Given the description of an element on the screen output the (x, y) to click on. 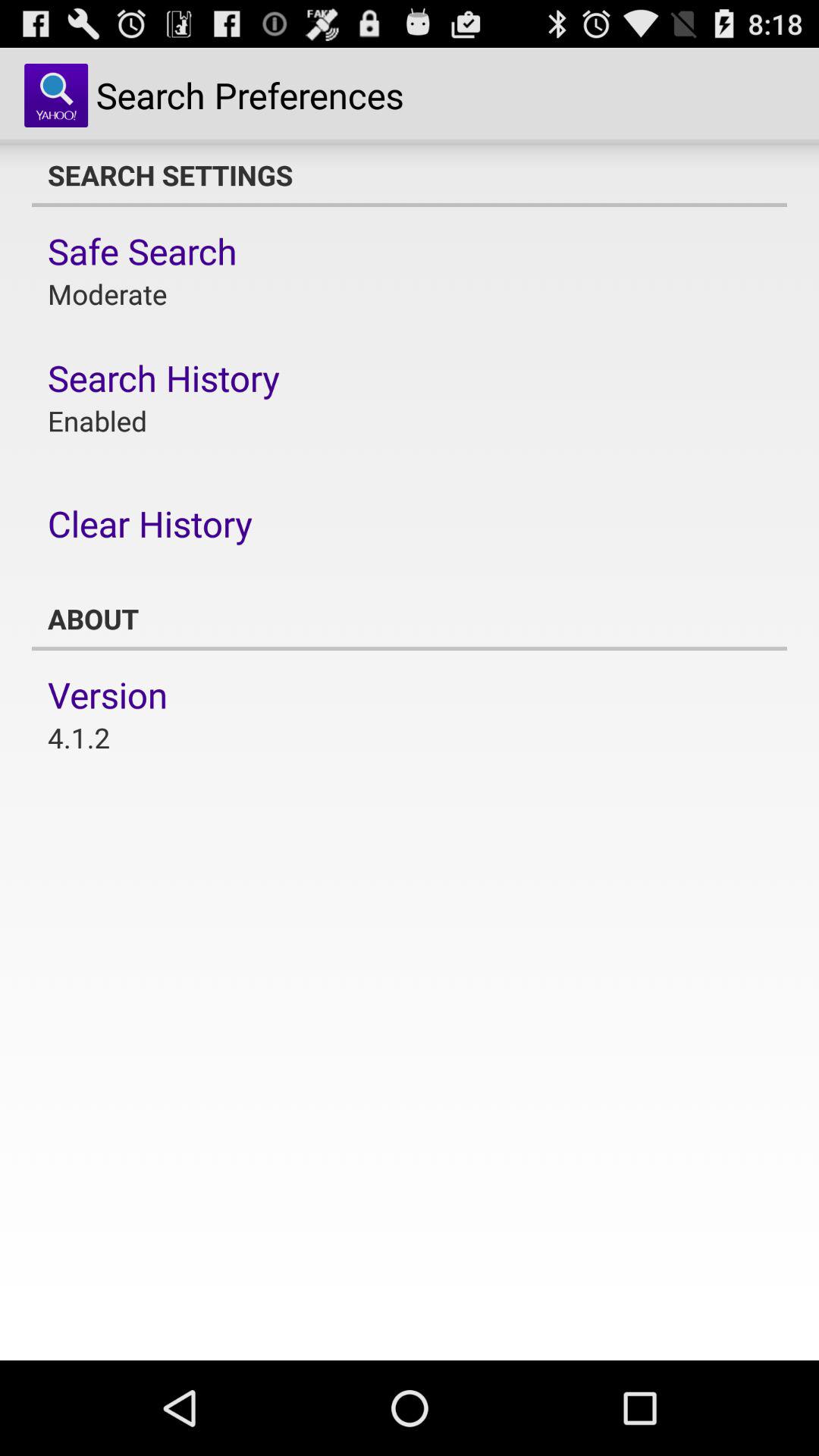
select enabled (97, 420)
